Given the description of an element on the screen output the (x, y) to click on. 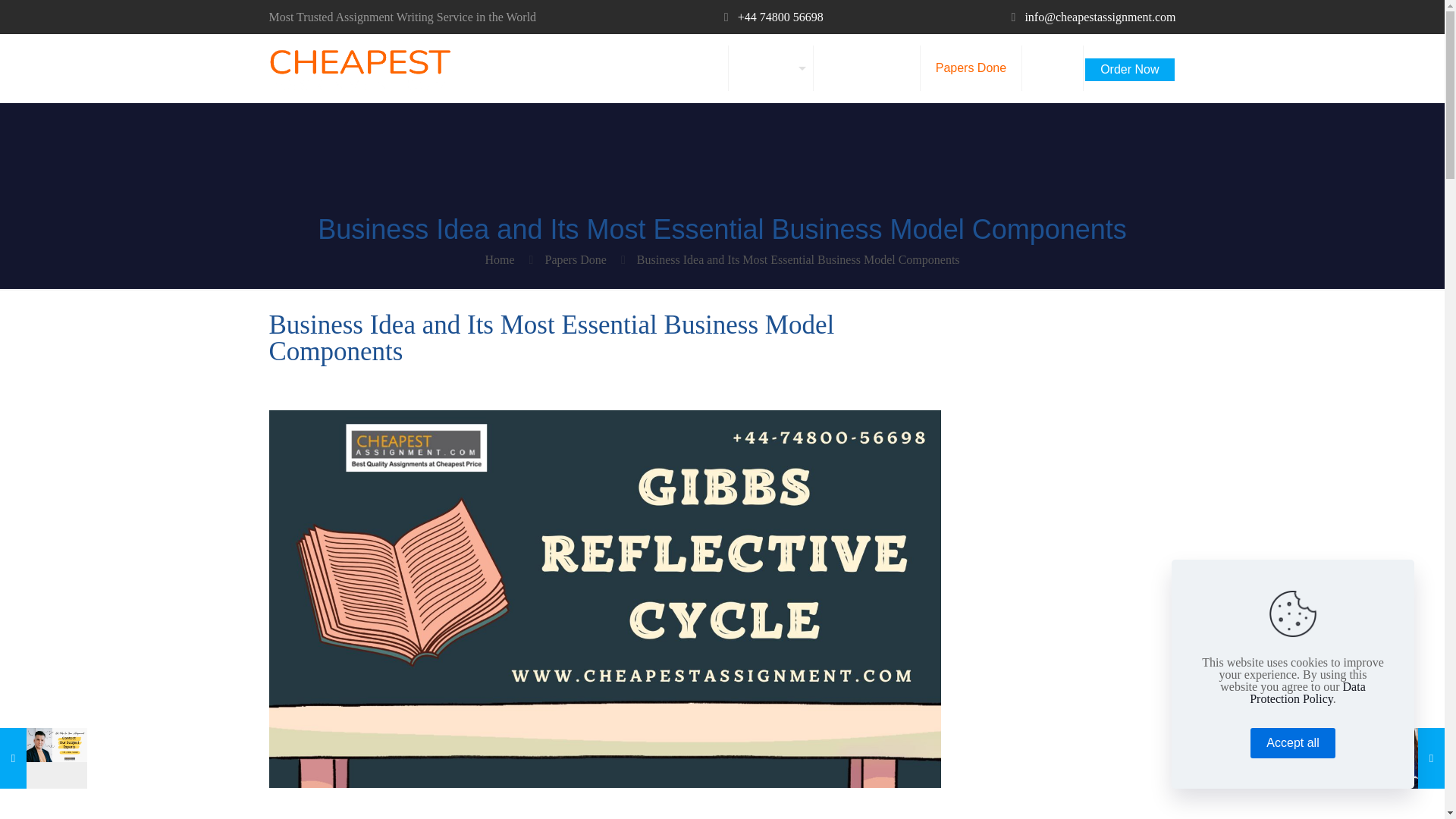
Papers Done (575, 259)
Papers Done (971, 68)
Services (771, 68)
Home (498, 259)
Blogs (1052, 68)
Best Assignment Writers (358, 68)
Home (697, 68)
Free Samples (866, 68)
Order Now (1128, 64)
